Given the description of an element on the screen output the (x, y) to click on. 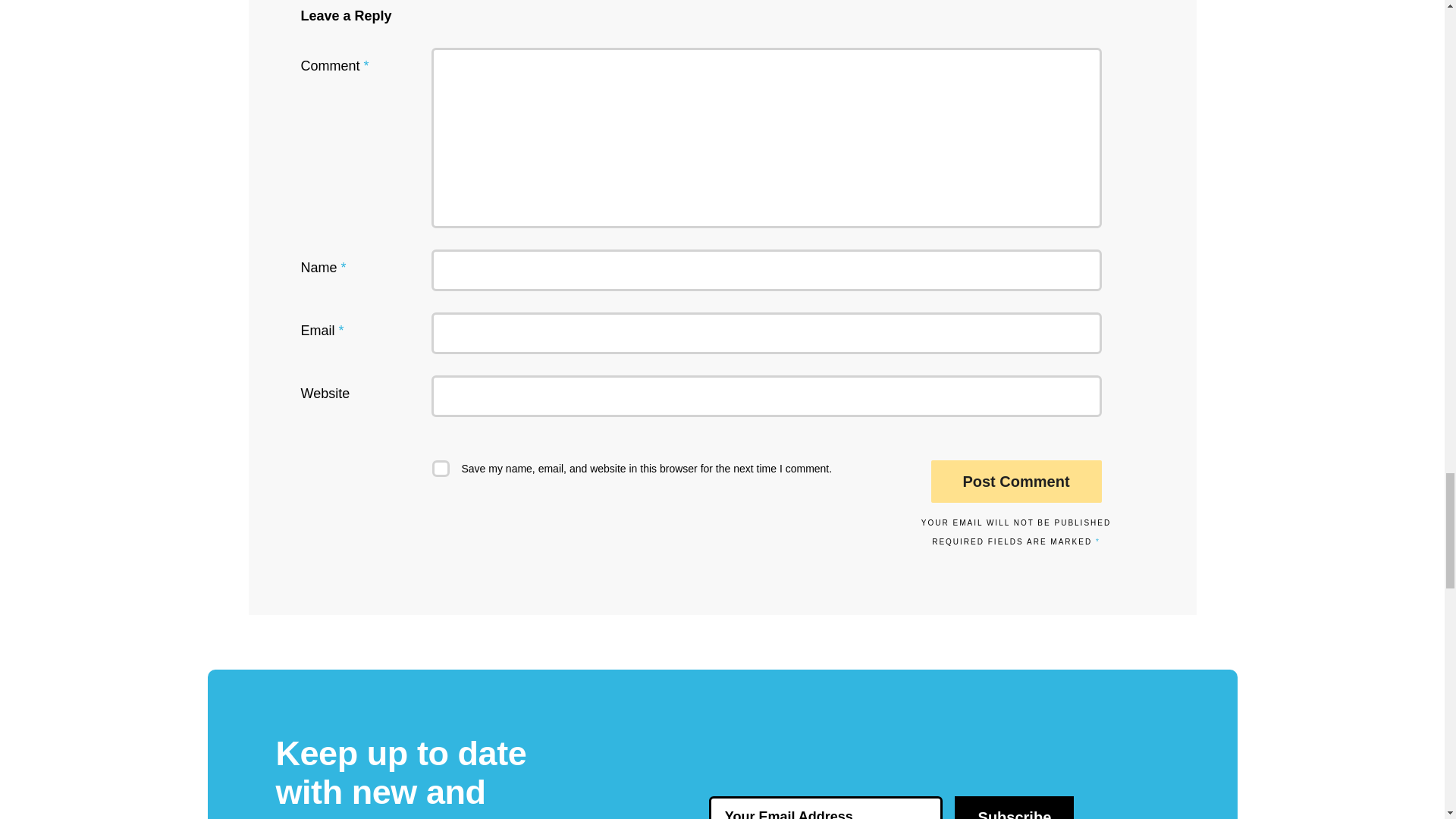
Subscribe (1014, 807)
Post Comment (1016, 481)
